Given the description of an element on the screen output the (x, y) to click on. 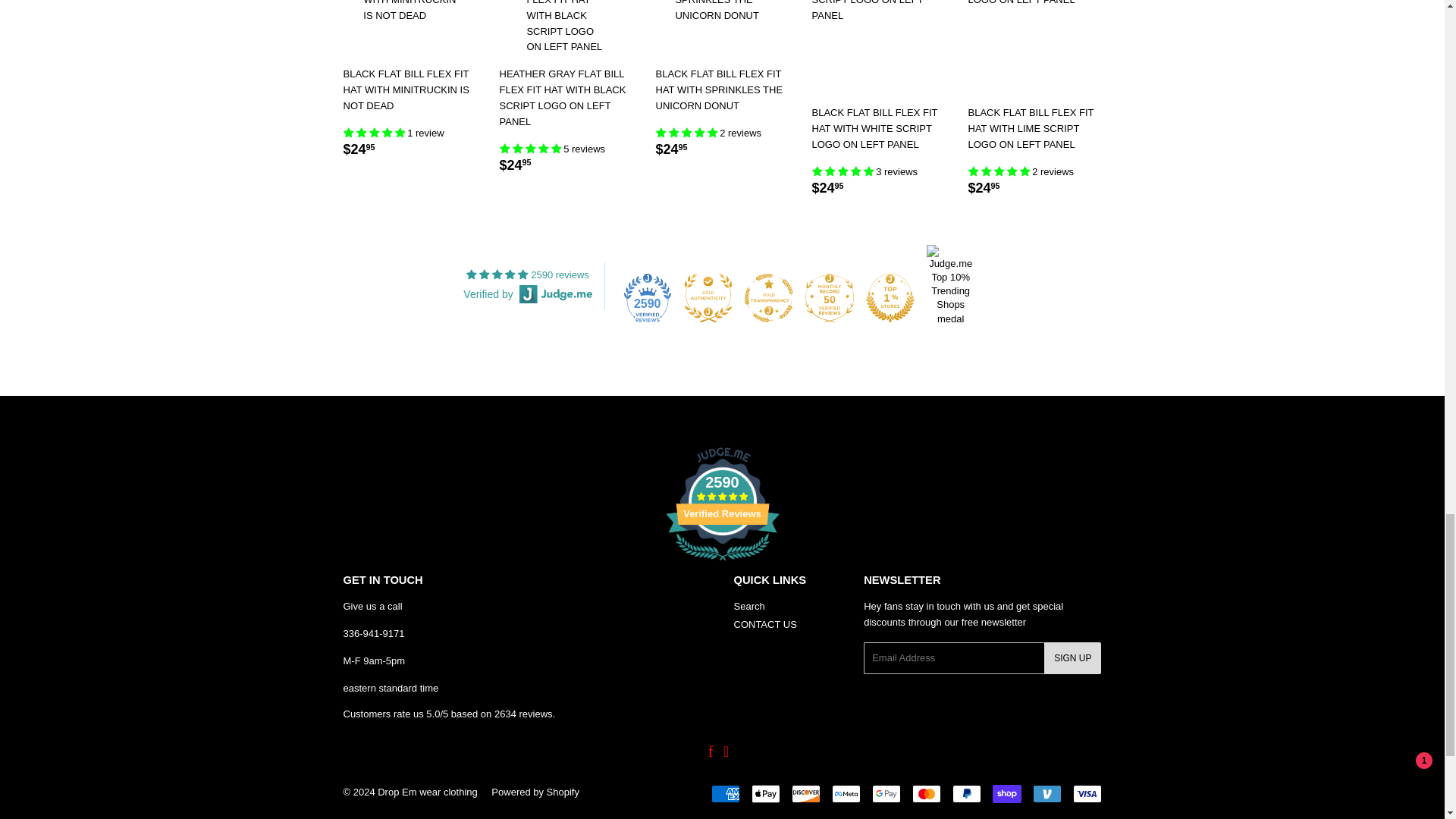
Venmo (1046, 793)
Discover (806, 793)
Google Pay (886, 793)
American Express (725, 793)
Visa (1085, 793)
Apple Pay (764, 793)
Mastercard (925, 793)
Meta Pay (845, 793)
Shop Pay (1005, 793)
PayPal (966, 793)
